Given the description of an element on the screen output the (x, y) to click on. 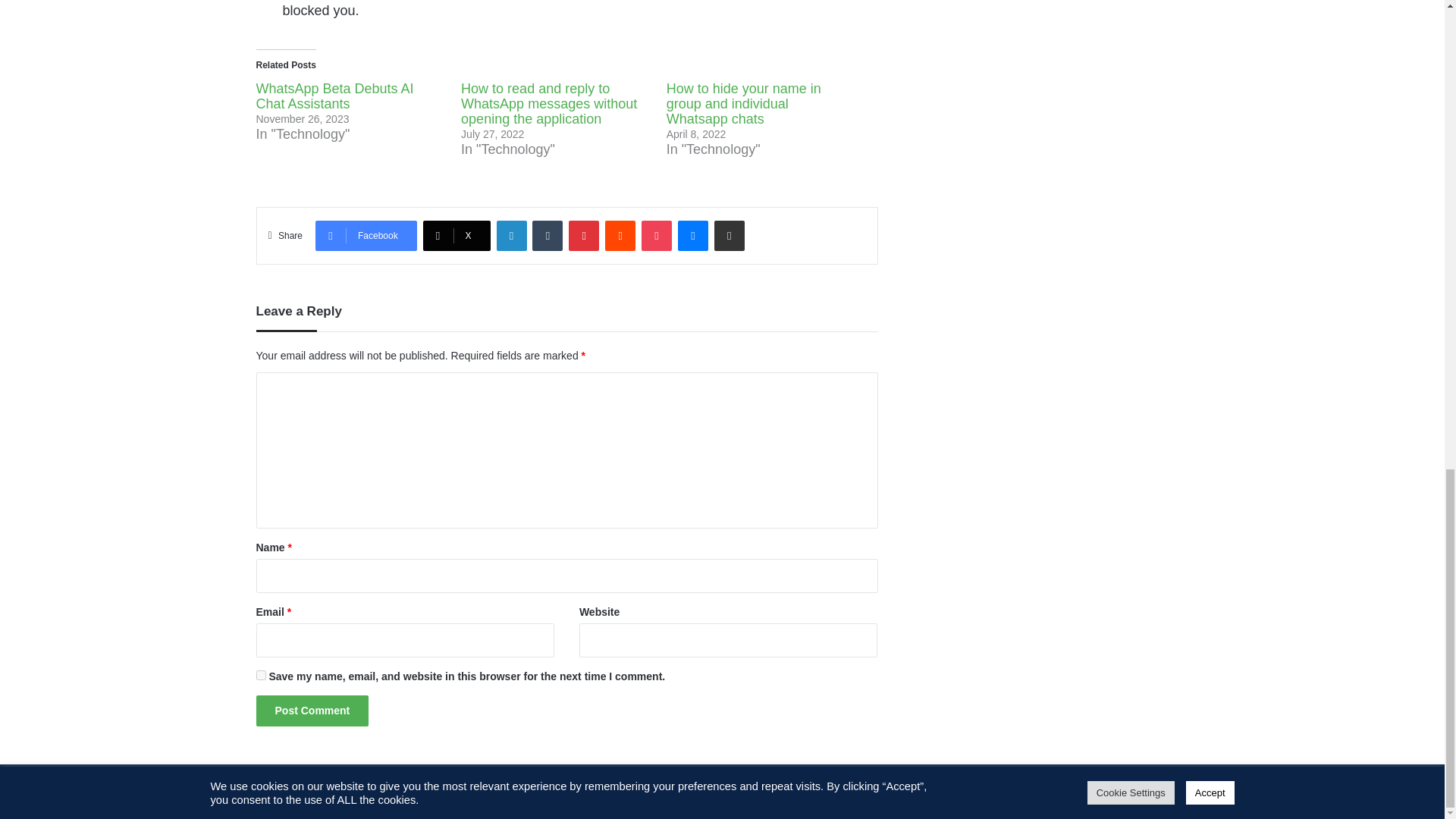
Facebook (365, 235)
Pinterest (583, 235)
How to hide your name in group and individual Whatsapp chats (743, 103)
Facebook (365, 235)
Messenger (692, 235)
Pinterest (583, 235)
How to hide your name in group and individual Whatsapp chats (743, 103)
Tumblr (547, 235)
X (456, 235)
Tumblr (547, 235)
X (456, 235)
WhatsApp Beta Debuts AI Chat Assistants (334, 96)
WhatsApp Beta Debuts AI Chat Assistants (334, 96)
Messenger (692, 235)
